Given the description of an element on the screen output the (x, y) to click on. 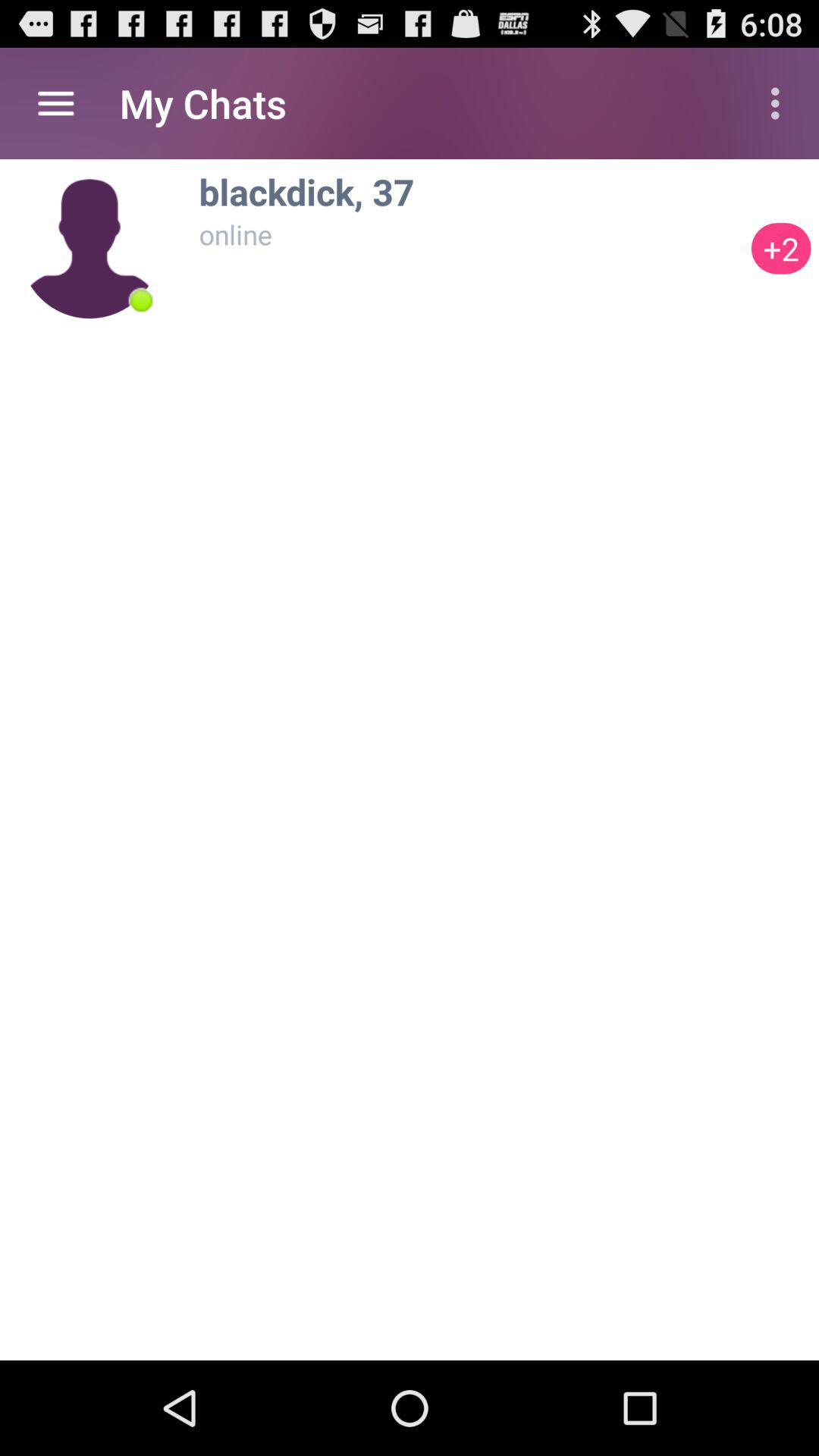
jump to blackdick, 37 app (471, 191)
